Given the description of an element on the screen output the (x, y) to click on. 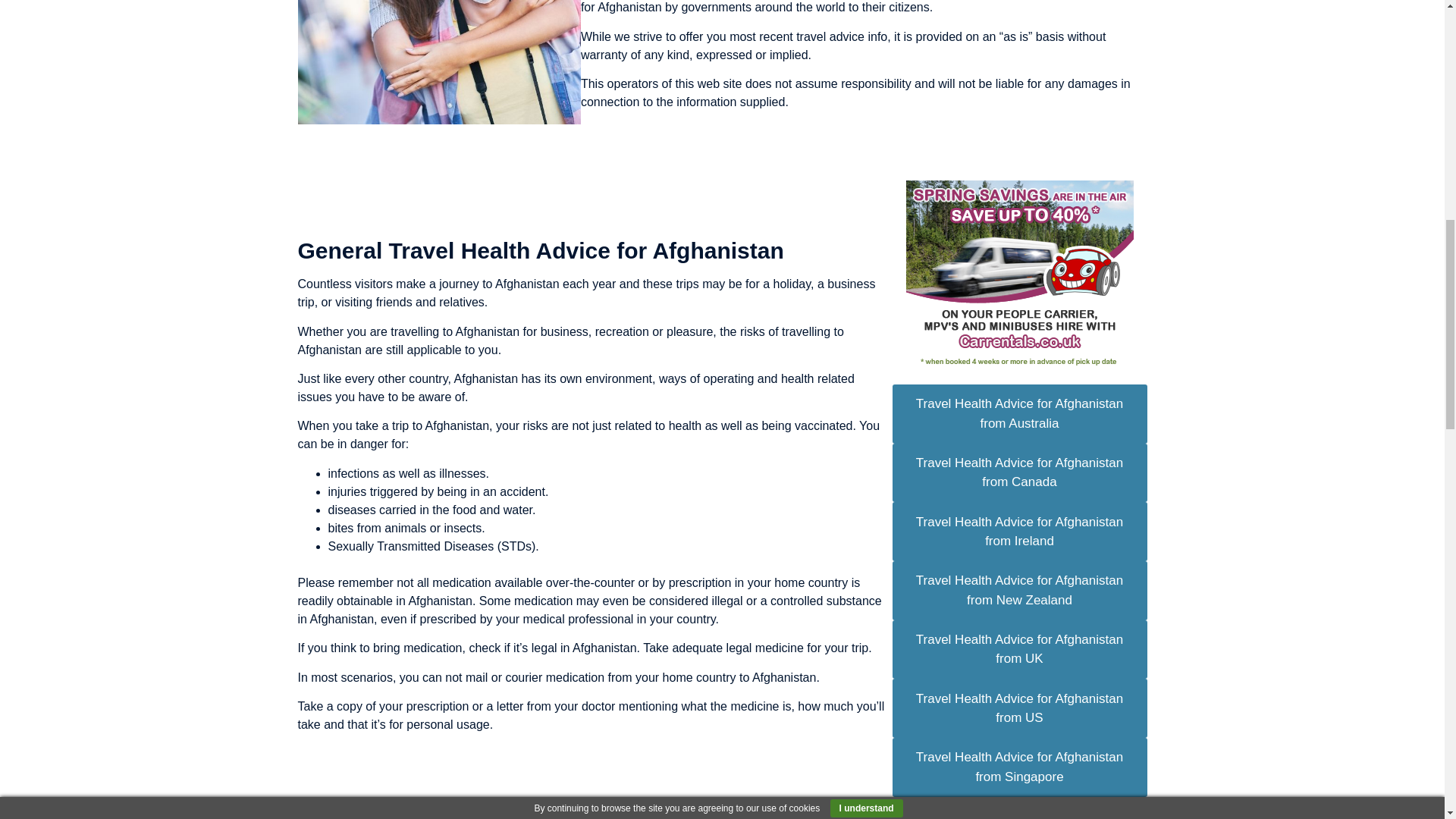
Travel Health Advice for Afghanistan from Ireland (1019, 531)
Travel Health Advice for Afghanistan from US (1019, 707)
Travel Health Advice for Afghanistan from Canada (1019, 472)
Travel Health Advice for Afghanistan from Singapore (1019, 766)
Travel Health Advice for Afghanistan from Australia (1019, 413)
Travel Health Advice for Afghanistan from UK (1019, 649)
Travel Health Advice for Afghanistan from New Zealand (1019, 590)
